Given the description of an element on the screen output the (x, y) to click on. 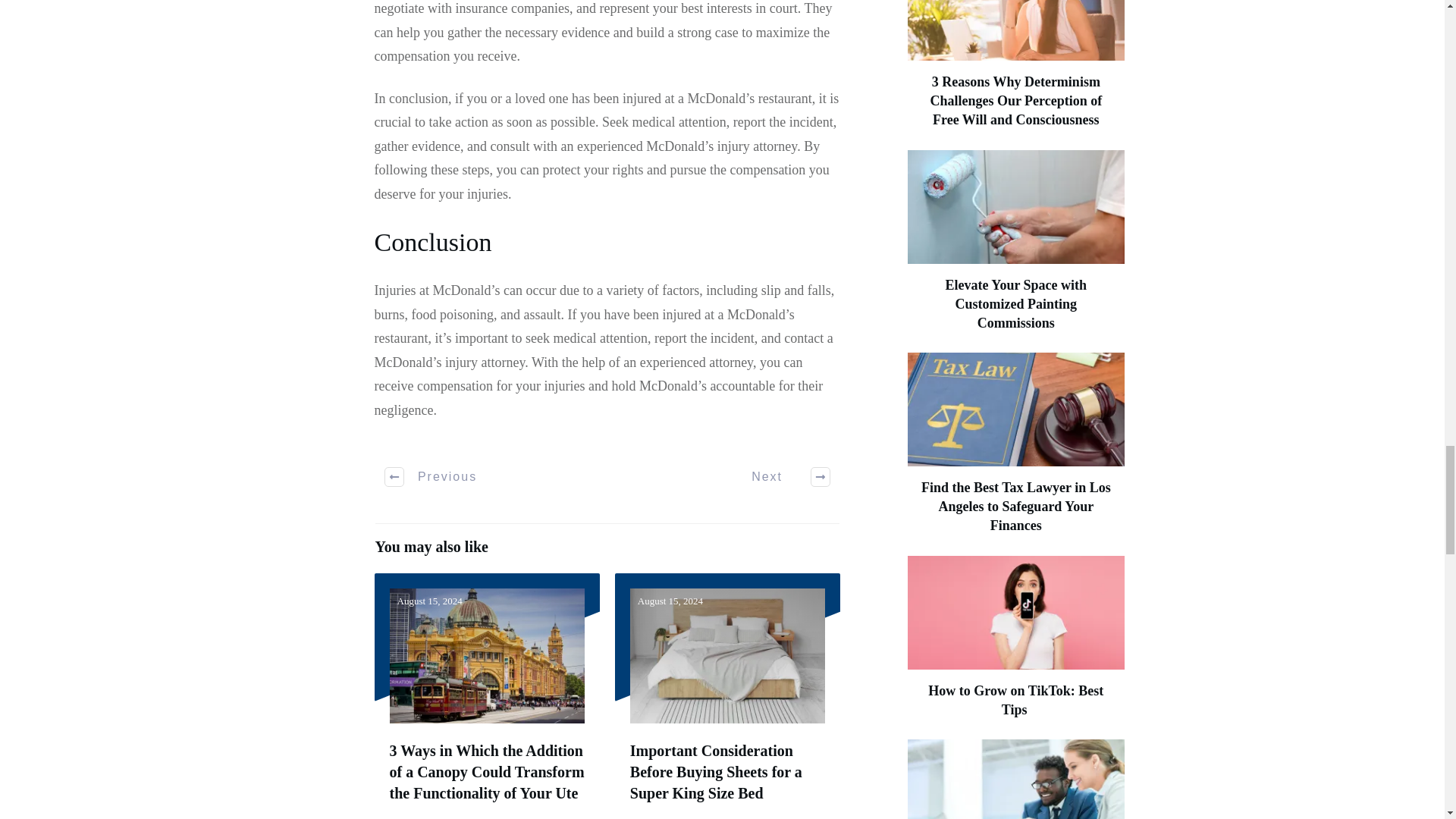
Next (782, 476)
Previous (430, 476)
Read More (430, 815)
Read More (670, 815)
